Given the description of an element on the screen output the (x, y) to click on. 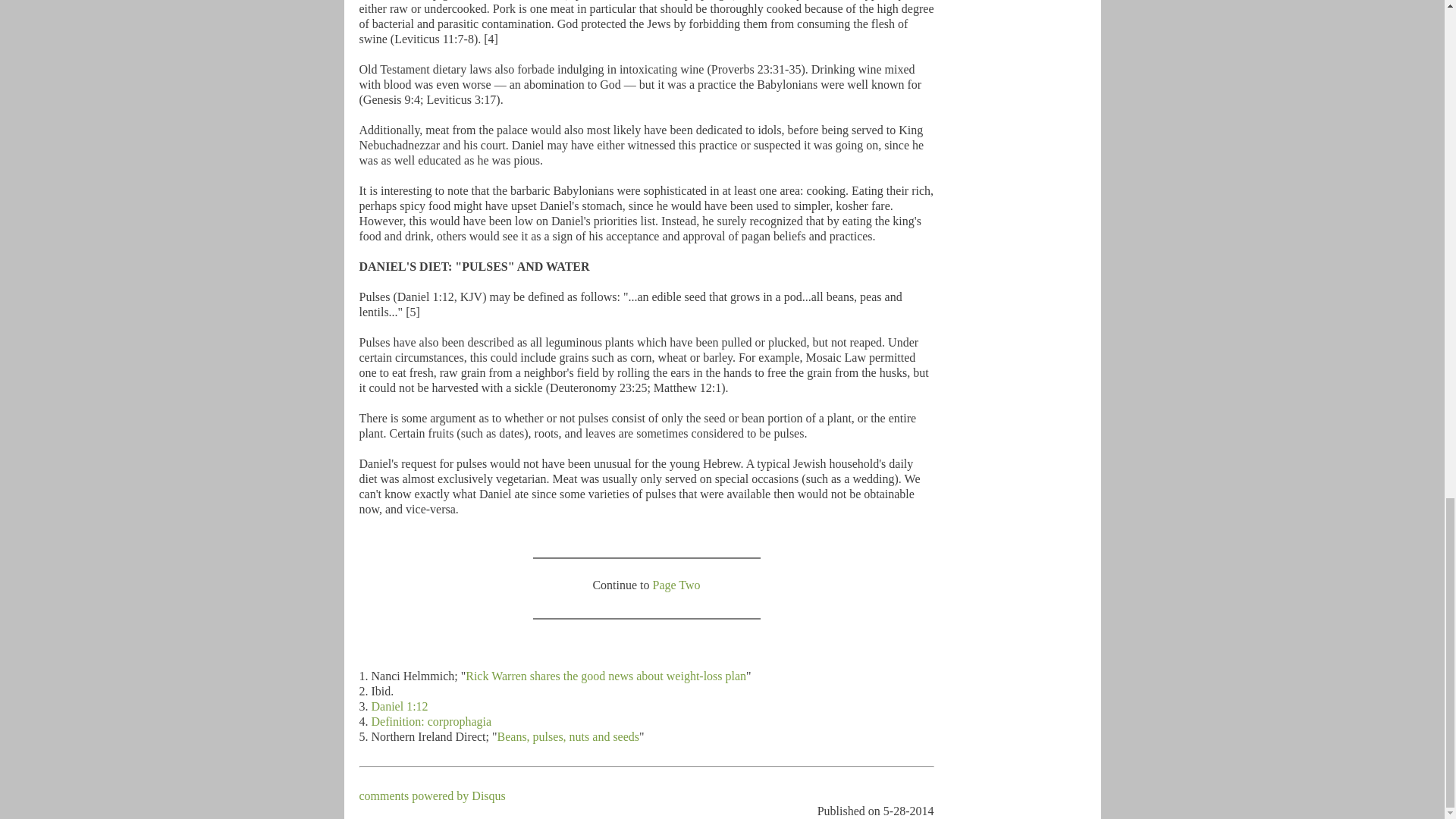
Definition: corprophagia (431, 721)
Beans, pulses, nuts and seeds (568, 736)
Daniel 1:12 (399, 706)
Page Two (676, 584)
Rick Warren shares the good news about weight-loss plan (605, 675)
comments powered by Disqus (432, 795)
